Given the description of an element on the screen output the (x, y) to click on. 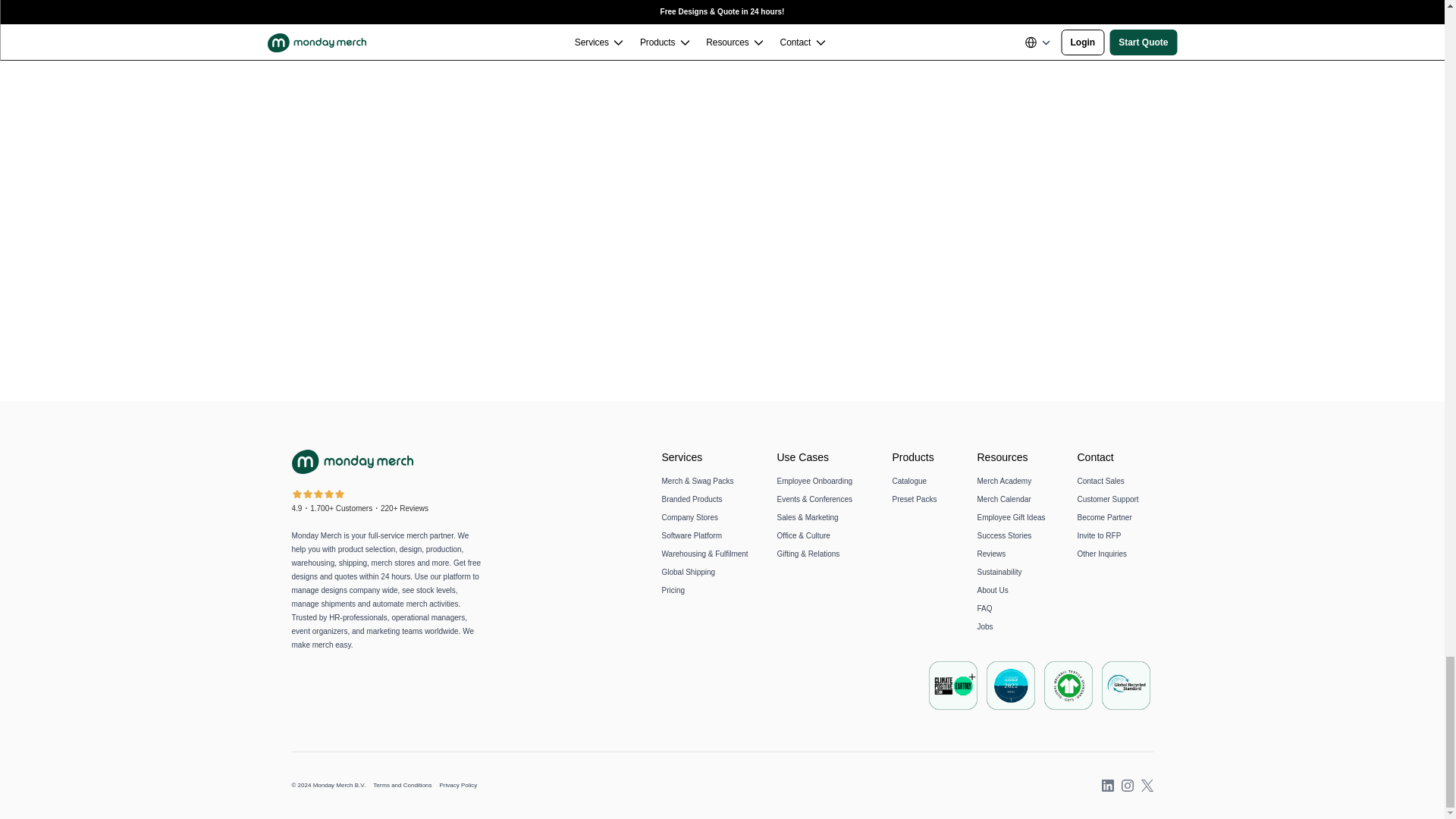
Contact Sales (1100, 480)
Other Inquiries (1101, 553)
Catalogue (908, 480)
Sustainability (999, 572)
Become Partner (1104, 517)
Merch Academy (1003, 480)
Pricing (672, 590)
Terms and Conditions (401, 785)
Invite to RFP (1099, 535)
Branded Products (691, 499)
